Given the description of an element on the screen output the (x, y) to click on. 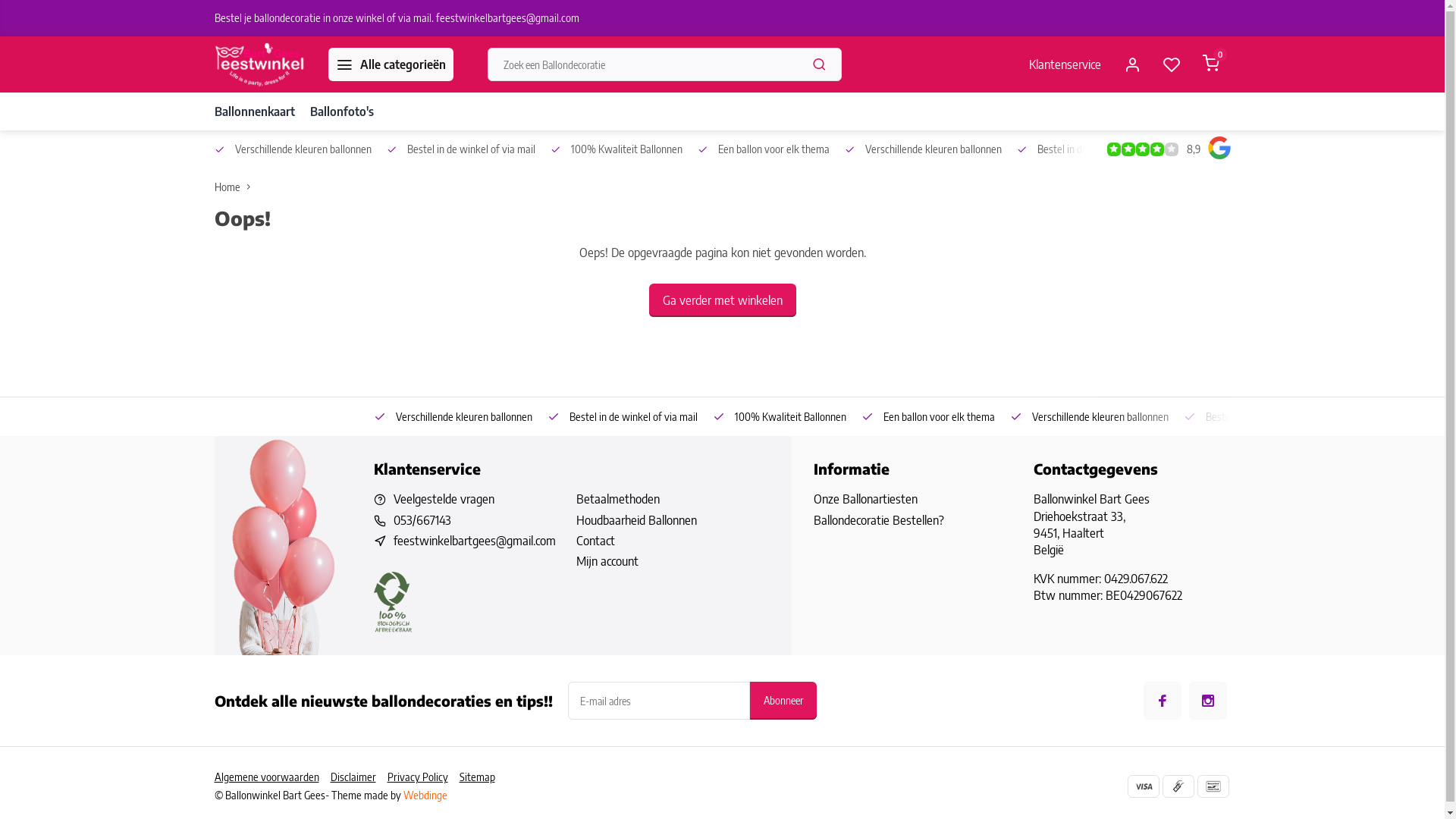
Ballonwinkel Bart Gees Element type: hover (259, 64)
053/667143 Element type: text (421, 519)
Veelgestelde vragen Element type: text (442, 498)
Visa Element type: hover (1142, 786)
Ballondecoratie Bestellen? Element type: text (911, 519)
feestwinkelbartgees@gmail.com Element type: text (473, 540)
Algemene voorwaarden Element type: text (271, 776)
Abonneer Element type: text (782, 700)
Cash Element type: hover (1177, 786)
Sitemap Element type: text (482, 776)
Betaalmethoden Element type: text (672, 498)
Klantenservice Element type: text (1064, 64)
Ballonfoto's Element type: text (341, 111)
Mijn account Element type: text (672, 560)
Contact Element type: text (672, 540)
Bancontact Element type: hover (1212, 786)
Ga verder met winkelen Element type: text (722, 299)
Disclaimer Element type: text (358, 776)
Ballonnenkaart Element type: text (253, 111)
0 Element type: text (1210, 64)
Privacy Policy Element type: text (422, 776)
Home Element type: text (234, 186)
Onze Ballonartiesten Element type: text (911, 498)
Facebook Element type: hover (1162, 700)
Houdbaarheid Ballonnen Element type: text (672, 519)
Webdinge Element type: text (425, 794)
